Given the description of an element on the screen output the (x, y) to click on. 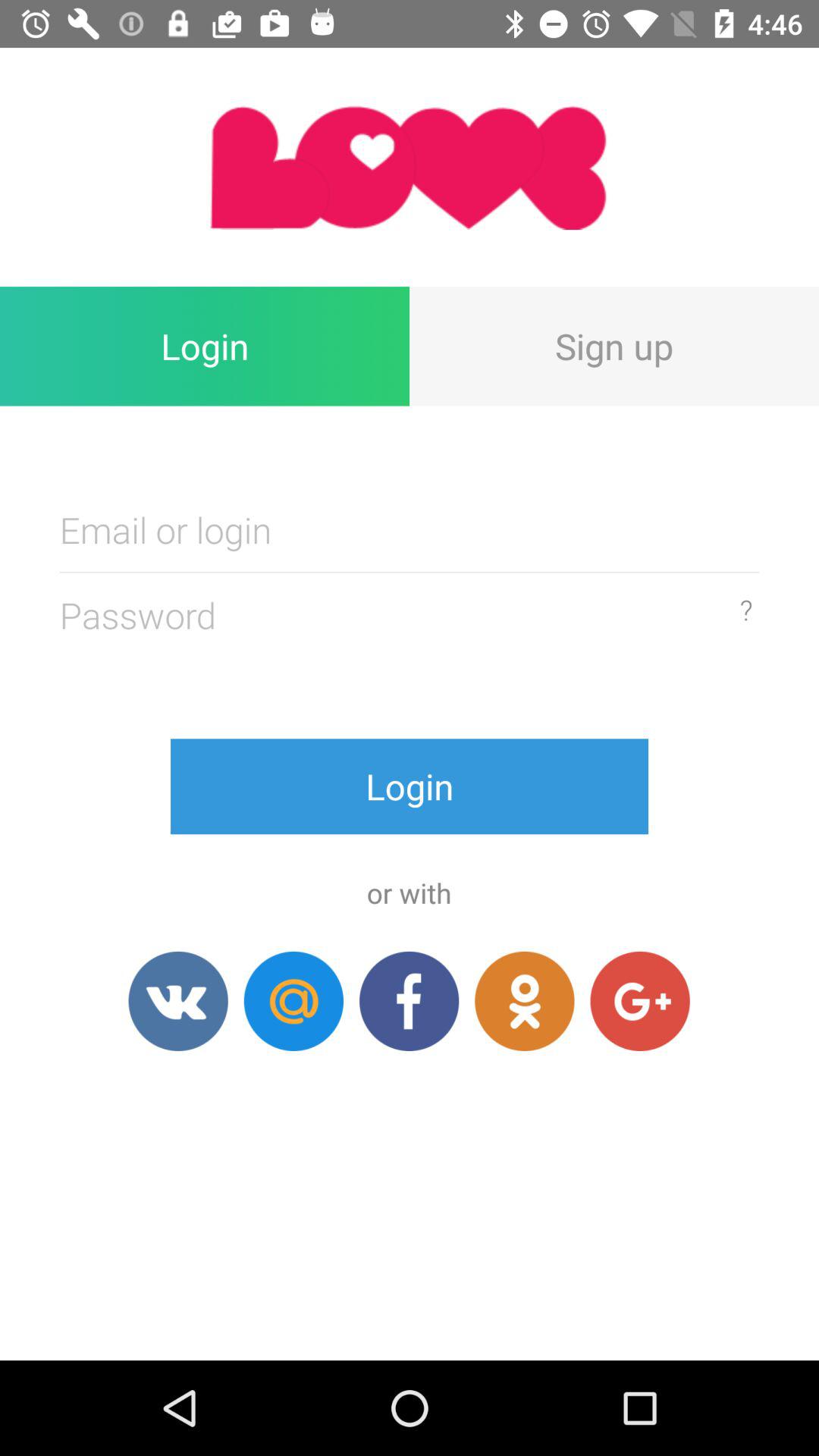
open icon to the right of login (614, 346)
